Given the description of an element on the screen output the (x, y) to click on. 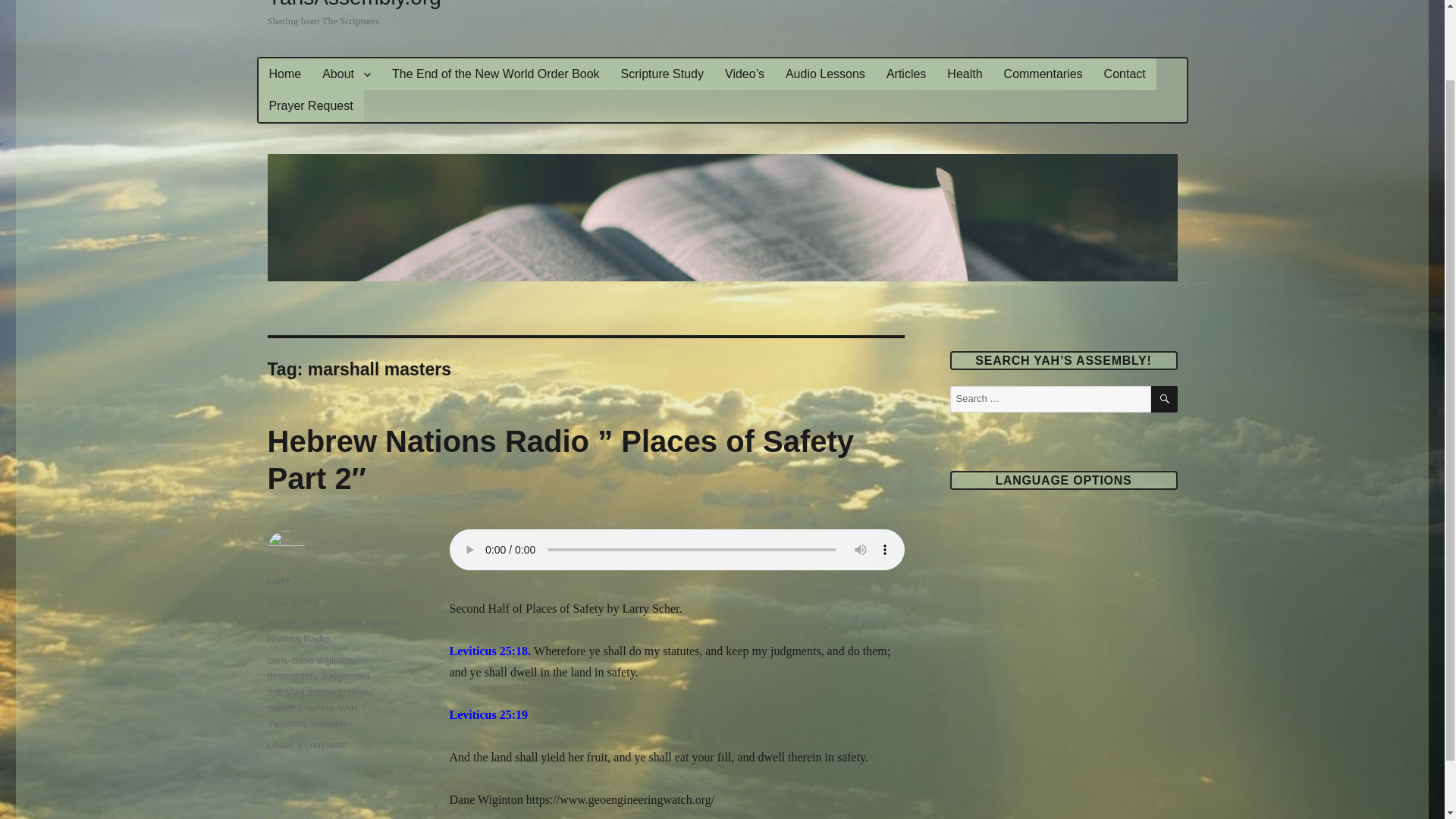
YahsAssembly.org (353, 4)
Commentary (331, 622)
2022-12-09 (291, 601)
Judgement (344, 675)
About (346, 74)
Audio Lessons (825, 74)
Articles (282, 622)
Articles (906, 74)
Scripture Study (662, 74)
cern (275, 659)
